Given the description of an element on the screen output the (x, y) to click on. 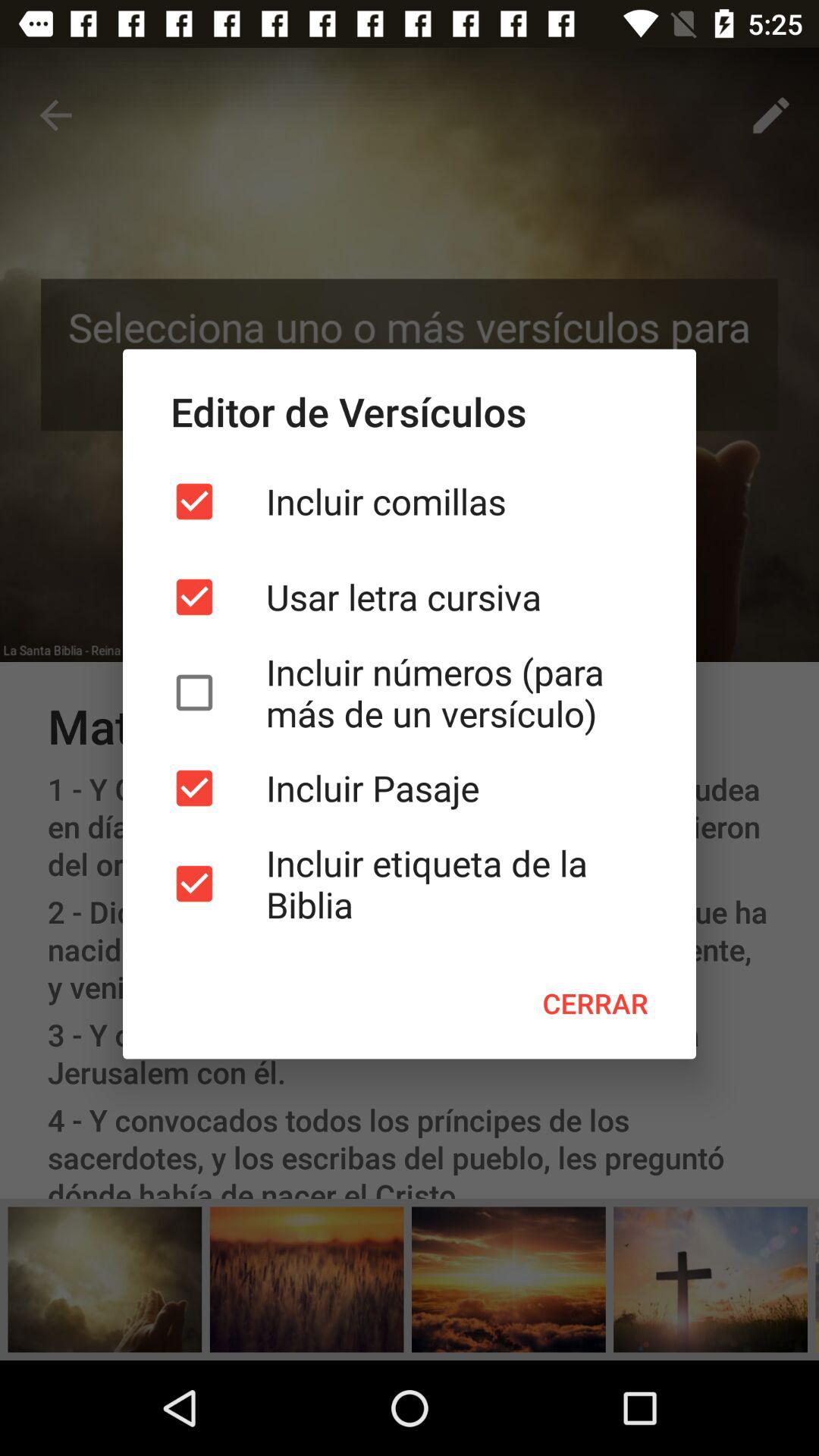
turn on item below the incluir pasaje item (409, 883)
